Given the description of an element on the screen output the (x, y) to click on. 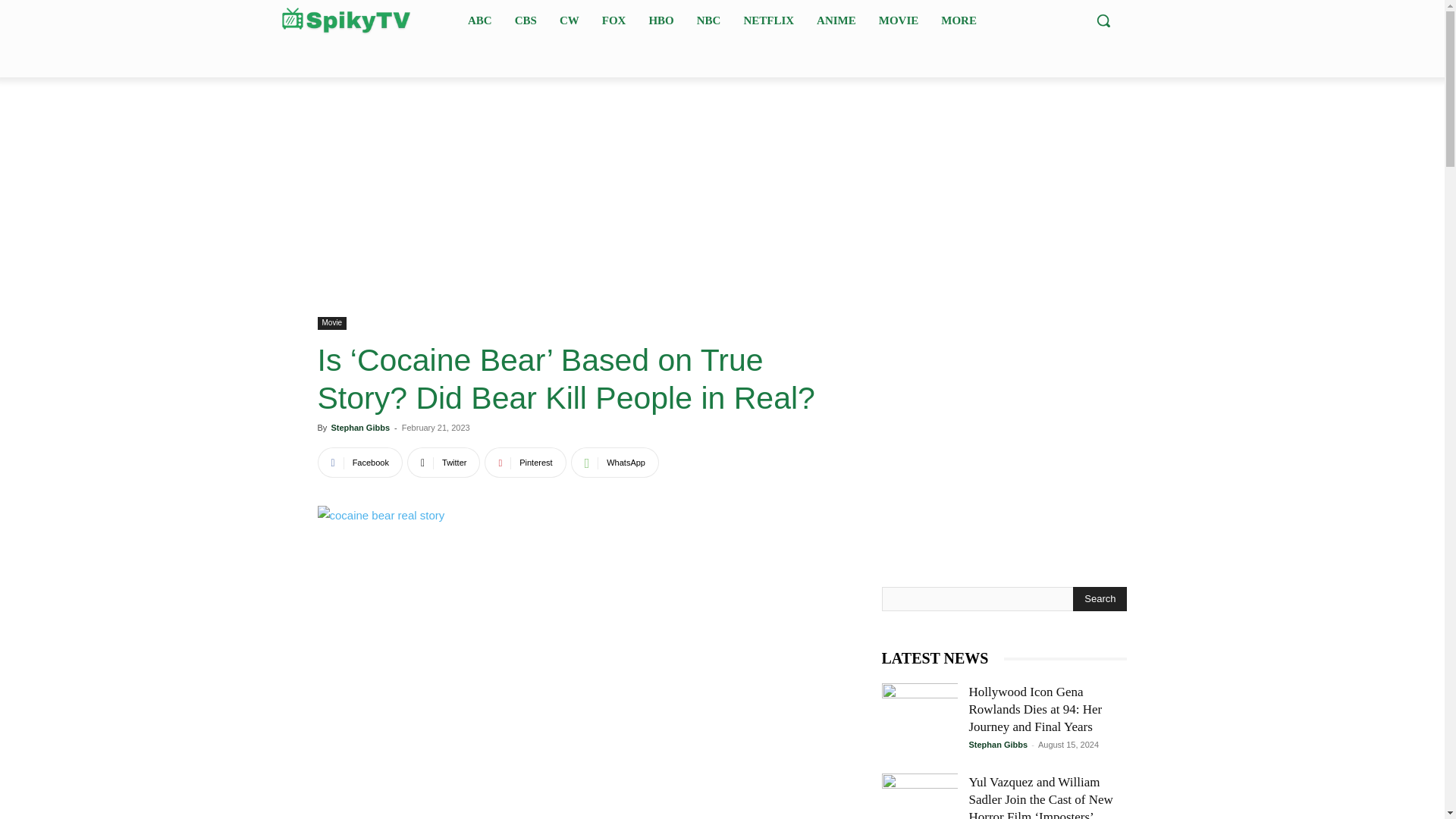
ABC (479, 20)
FOX (613, 20)
NBC (708, 20)
HBO (660, 20)
NETFLIX (768, 20)
Pinterest (525, 462)
MORE (958, 20)
WhatsApp (614, 462)
CBS (525, 20)
Search (1099, 598)
